Given the description of an element on the screen output the (x, y) to click on. 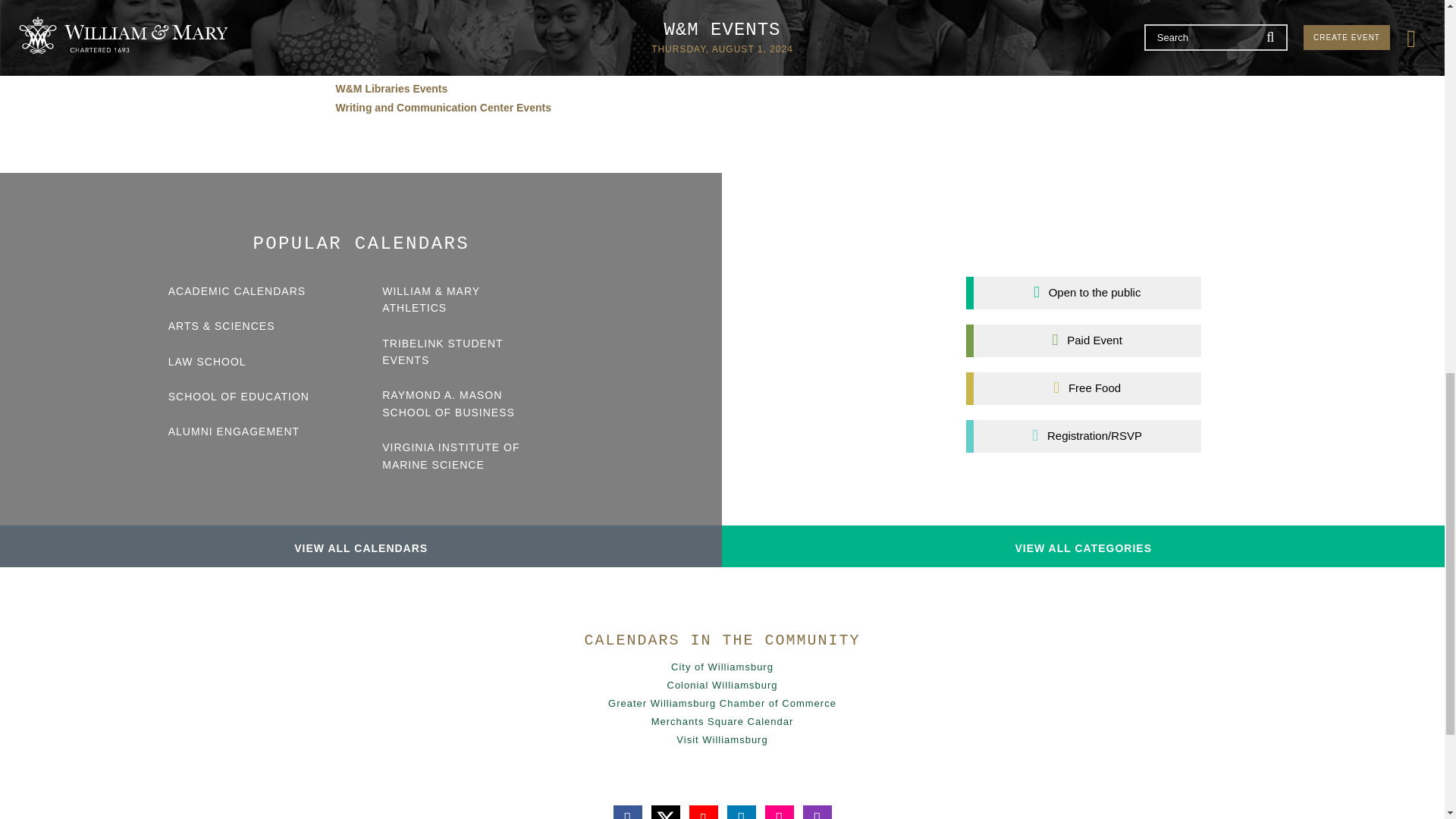
Facebook (627, 812)
Charles Center Events (391, 50)
Biology Events (373, 31)
Writing and Communication Center Events (442, 107)
Flickr (778, 812)
X (664, 812)
LinkedIn (740, 812)
Sustainability Events (388, 69)
Instagram (816, 812)
YouTube (702, 812)
